Given the description of an element on the screen output the (x, y) to click on. 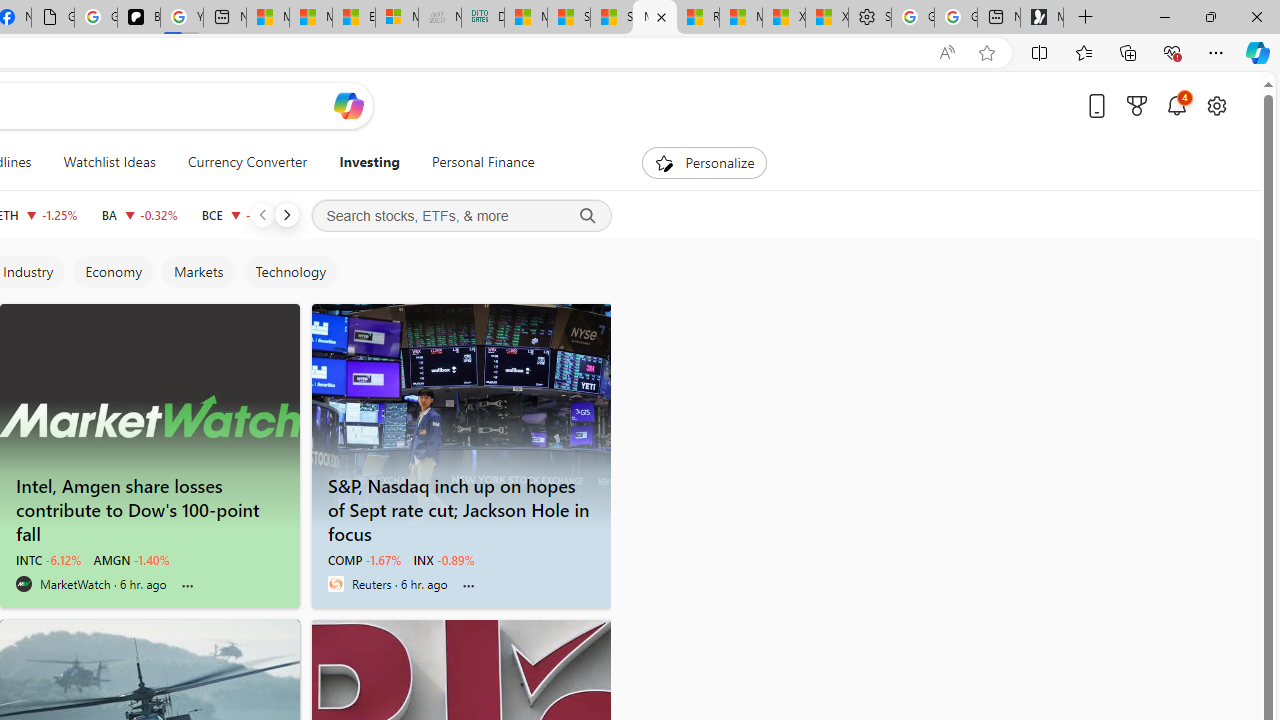
MarketWatch (23, 583)
Previous (262, 214)
